Given the description of an element on the screen output the (x, y) to click on. 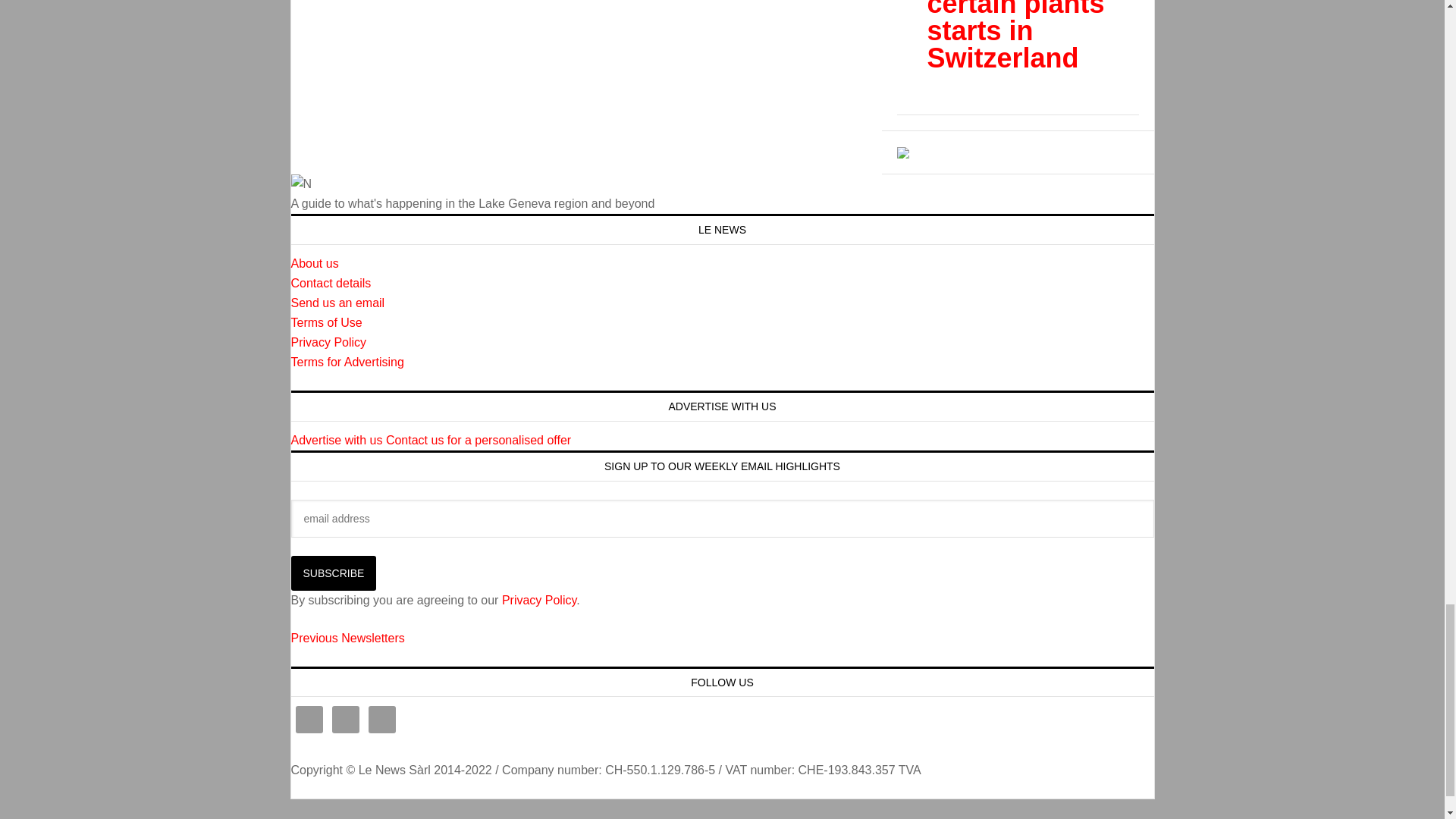
Subscribe (334, 573)
Previous Newsletters (347, 637)
CONTACT (331, 282)
Terms and Conditions (326, 322)
Privacy Policy (328, 341)
ABOUT US (315, 263)
Advertising Terms and Conditions (347, 361)
